Given the description of an element on the screen output the (x, y) to click on. 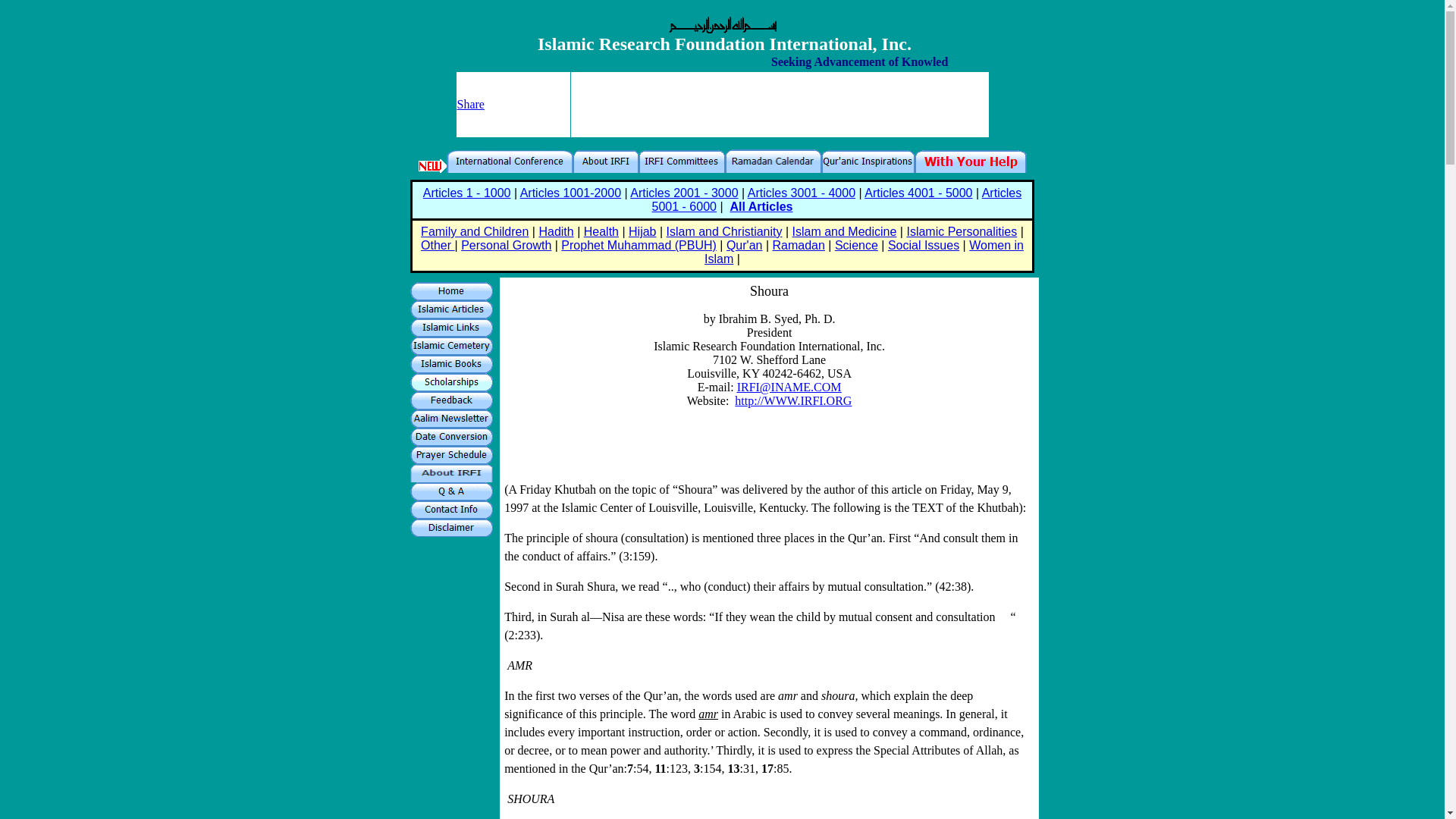
Islam and Medicine (844, 231)
Women in Islam (863, 252)
Articles 4001 - 5000 (918, 192)
Other (437, 245)
Ramadan (797, 245)
Islam and Christianity (724, 231)
Share (470, 103)
Health (600, 231)
Qur'an (744, 245)
Personal Growth (506, 245)
Articles 5001 - 6000 (837, 199)
Hadith (555, 231)
Articles 2001 - 3000 (684, 192)
Articles 3001 - 4000 (802, 192)
All Articles (760, 205)
